Given the description of an element on the screen output the (x, y) to click on. 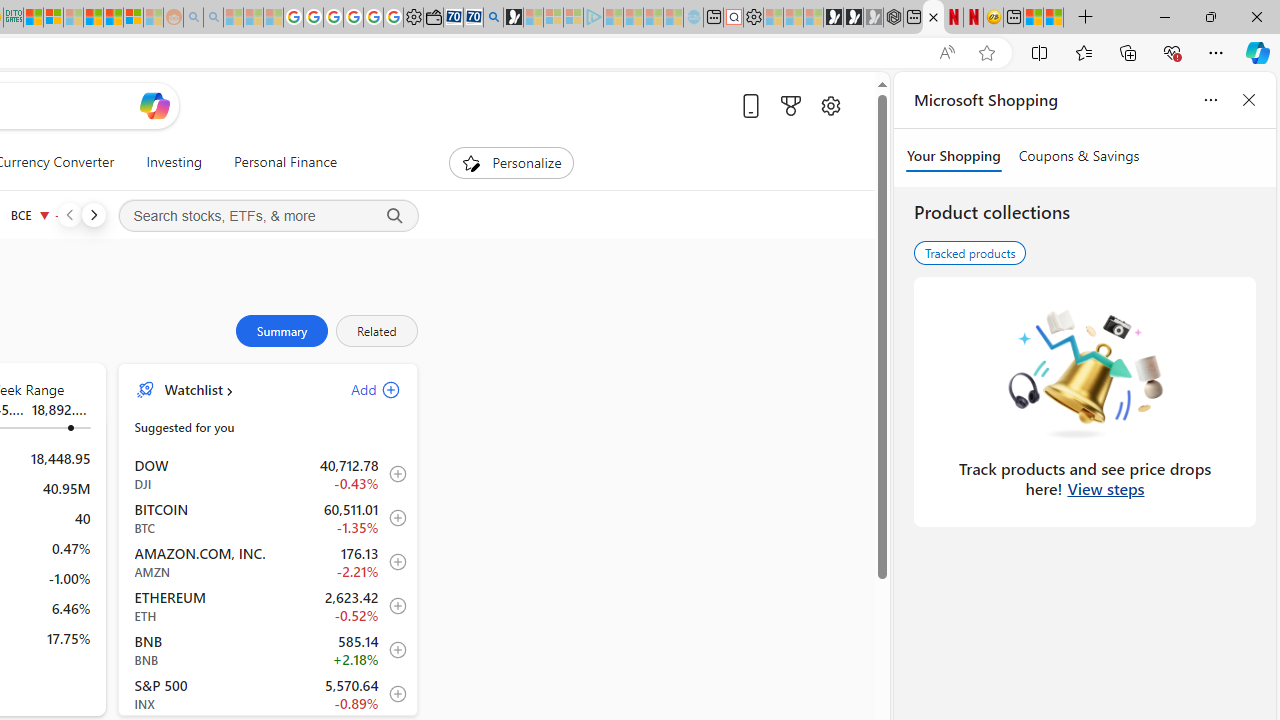
Expert Portfolios (93, 17)
Add (358, 390)
DJI DOW decrease 40,712.78 -177.71 -0.43% item0 (267, 474)
Related (376, 331)
